Given the description of an element on the screen output the (x, y) to click on. 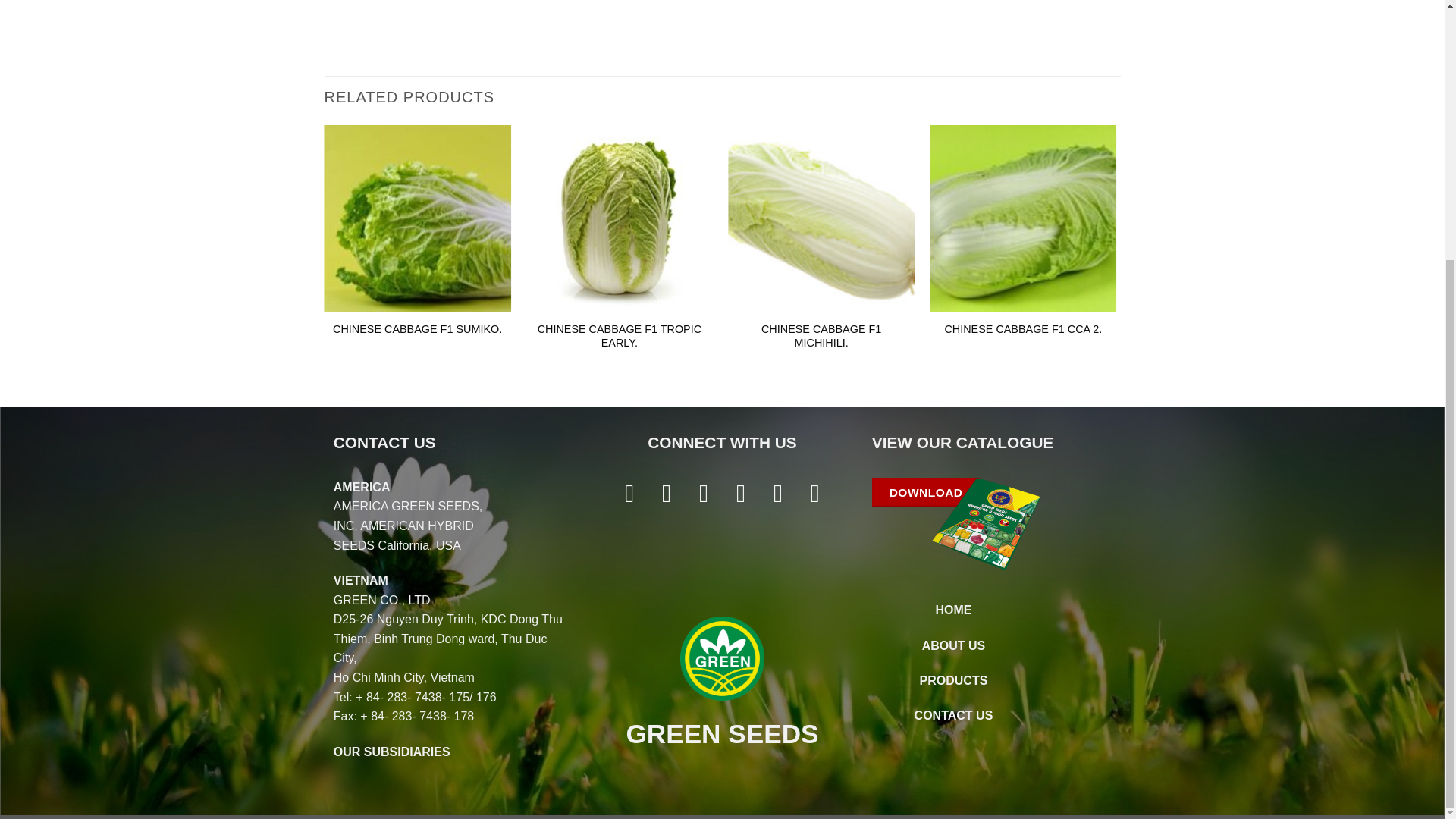
Follow on Pinterest (741, 492)
Follow on LinkedIn (777, 492)
Follow on Twitter (703, 492)
Follow on YouTube (814, 492)
Follow on Facebook (629, 492)
Follow on Instagram (666, 492)
